Given the description of an element on the screen output the (x, y) to click on. 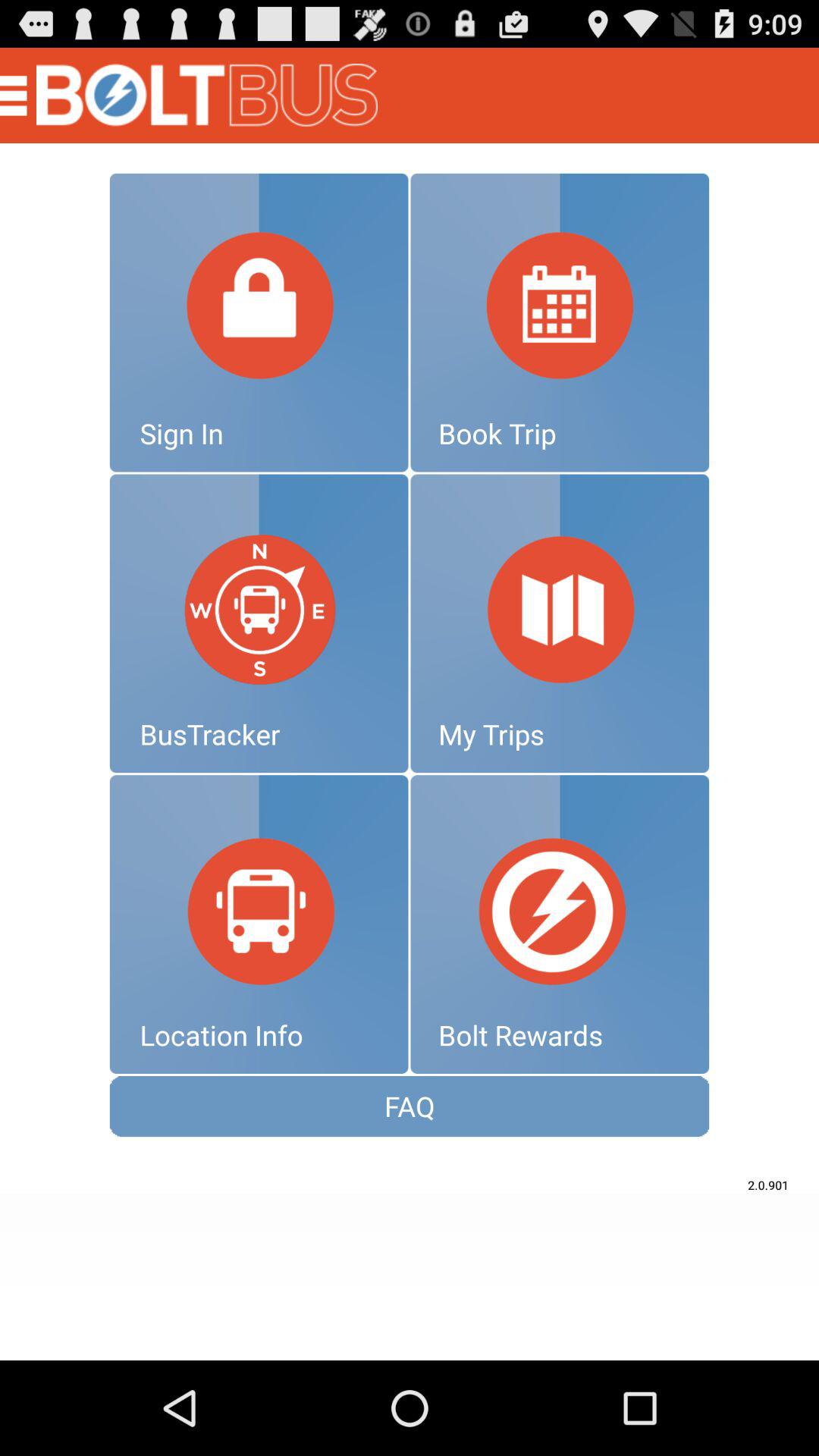
scroll to the faq (409, 1106)
